Given the description of an element on the screen output the (x, y) to click on. 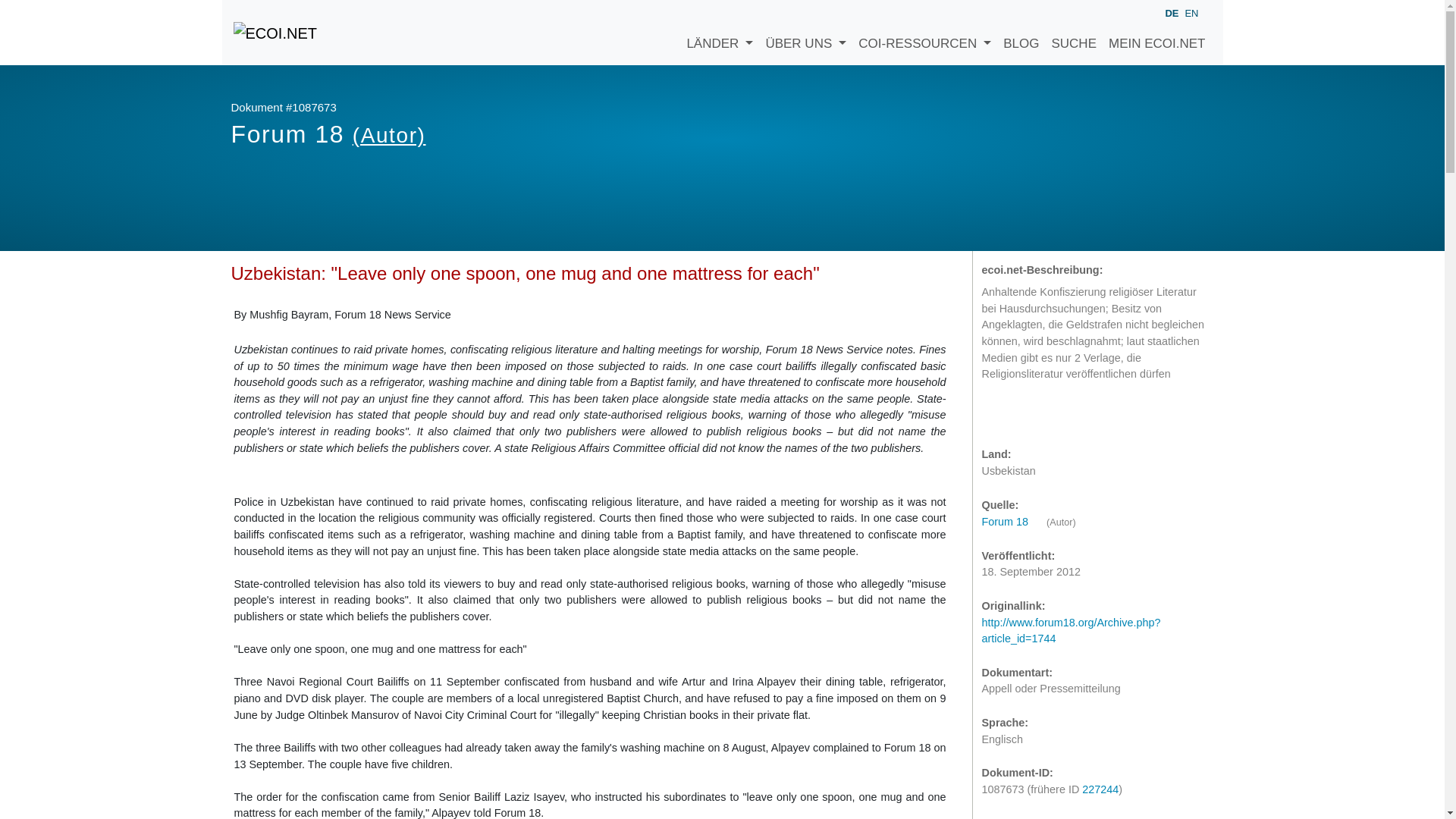
Quellenbeschreibung lesen (1012, 521)
Deutsch (1170, 13)
EN (1190, 12)
Zitieren als (996, 416)
Forum 18 (1012, 521)
Permalink (1056, 416)
Teilen (1026, 416)
COI-RESSOURCEN (924, 32)
BLOG (1021, 32)
SUCHE (1073, 32)
Englisch (1190, 12)
MEIN ECOI.NET (1156, 32)
Zur Startseite von ecoi.net gehen (274, 32)
